Given the description of an element on the screen output the (x, y) to click on. 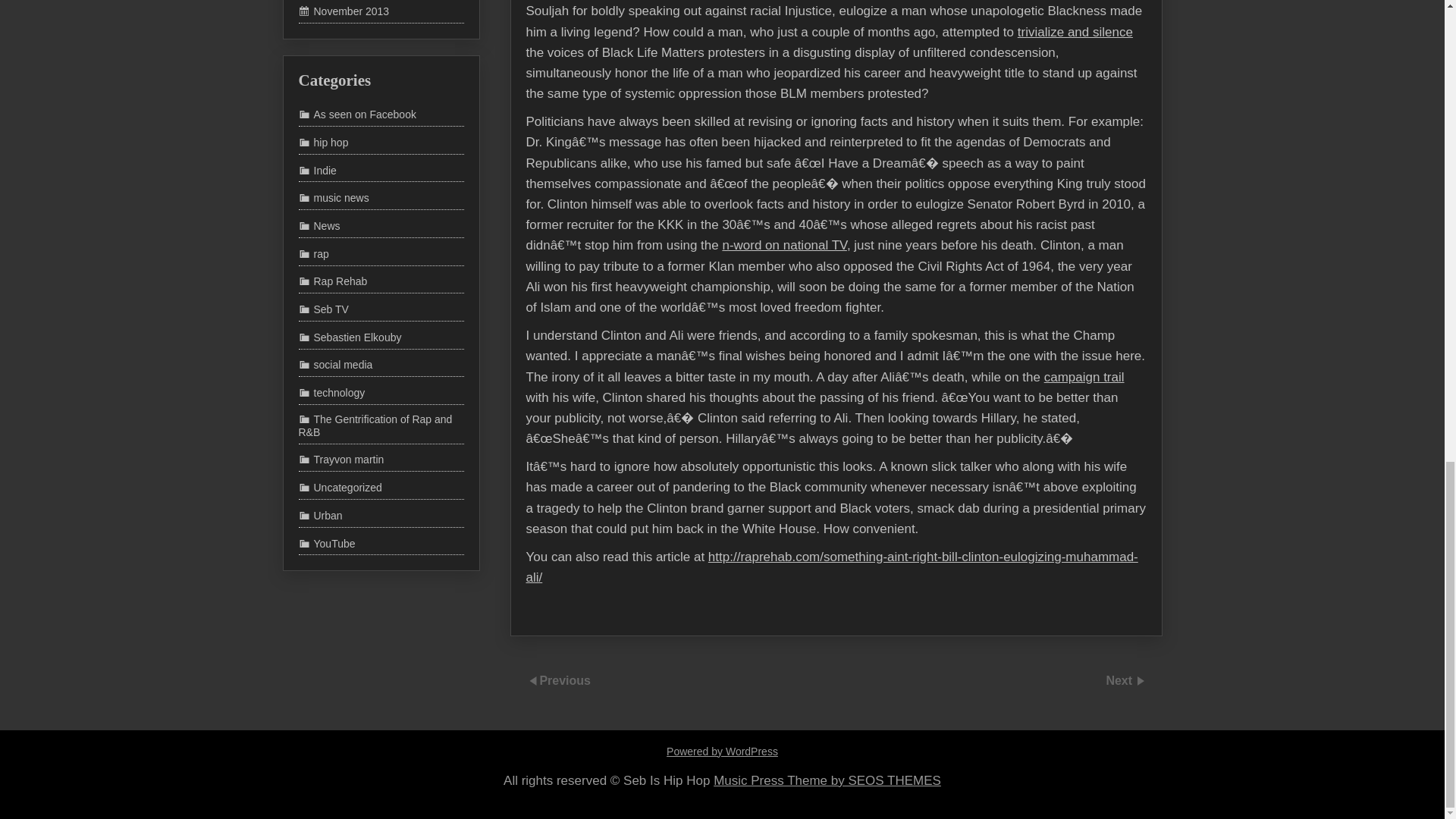
campaign trail (1072, 355)
trivialize and silence (1057, 25)
SEOS THEMES - Music Press (826, 780)
Previous (564, 679)
Next (1120, 679)
n-word on national TV (793, 225)
